Given the description of an element on the screen output the (x, y) to click on. 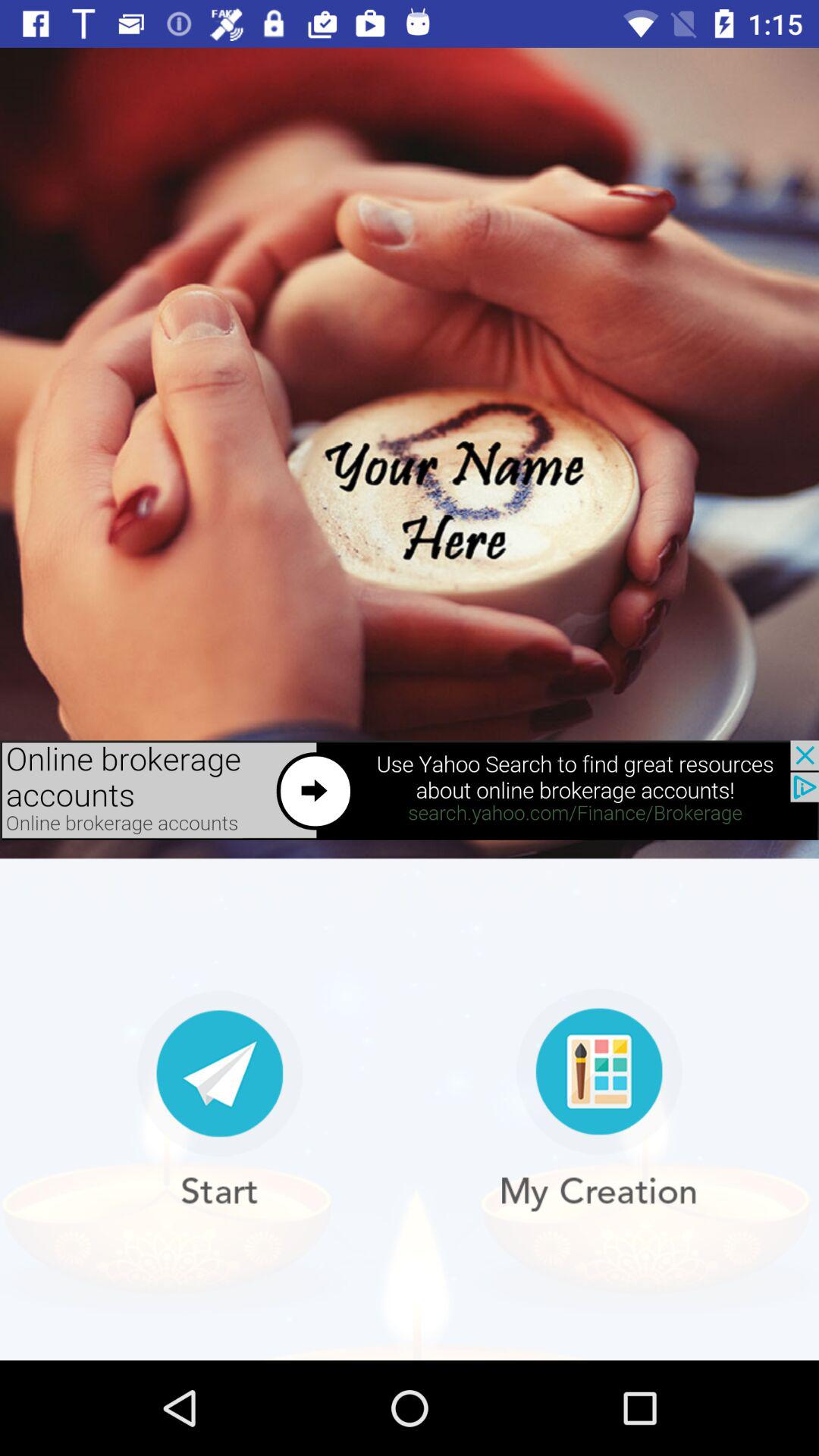
start the application (219, 1099)
